Given the description of an element on the screen output the (x, y) to click on. 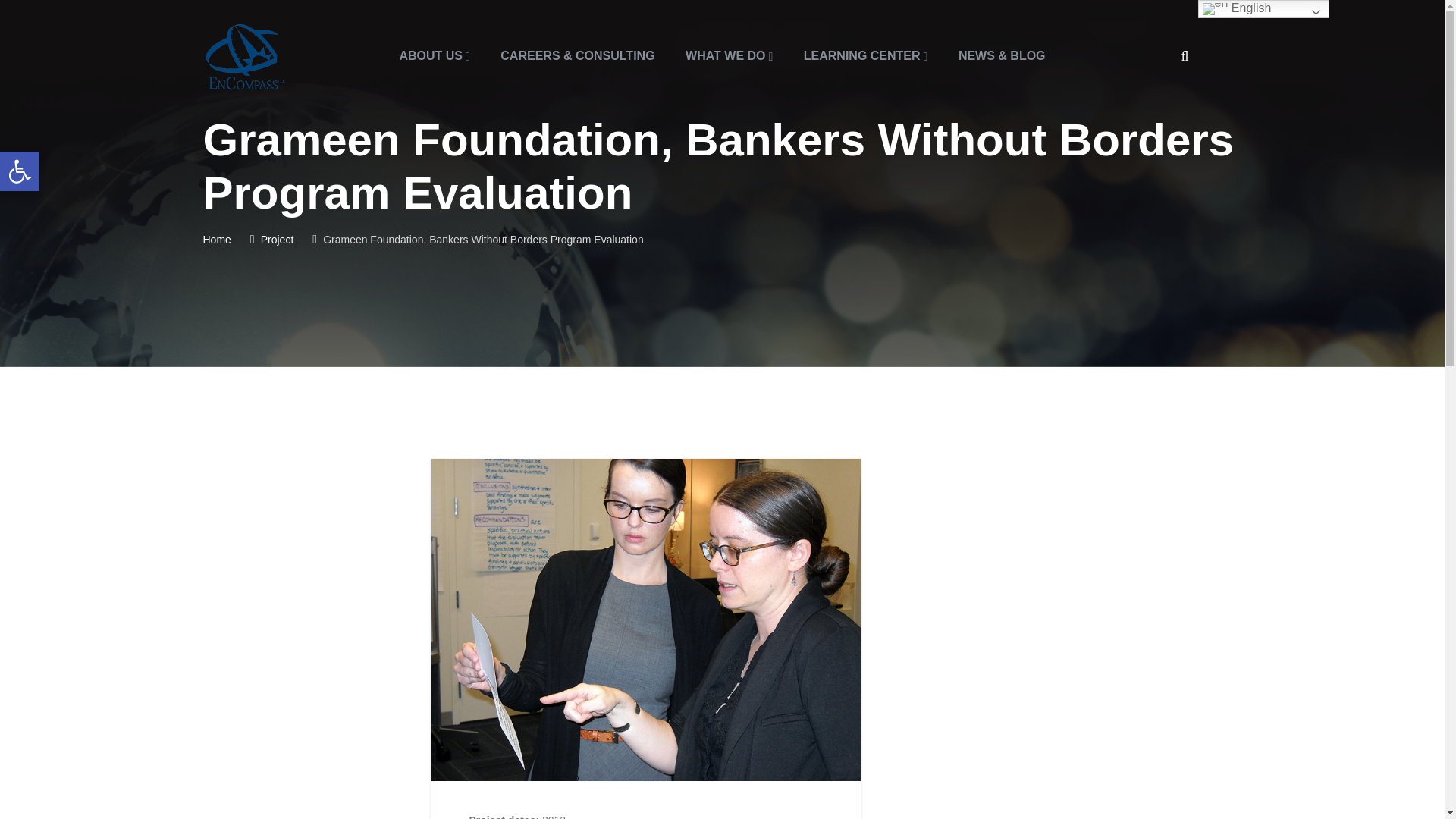
LEARNING CENTER (865, 56)
Accessibility Tools (19, 170)
Accessibility Tools (19, 170)
LEARNING CENTER (19, 170)
